Given the description of an element on the screen output the (x, y) to click on. 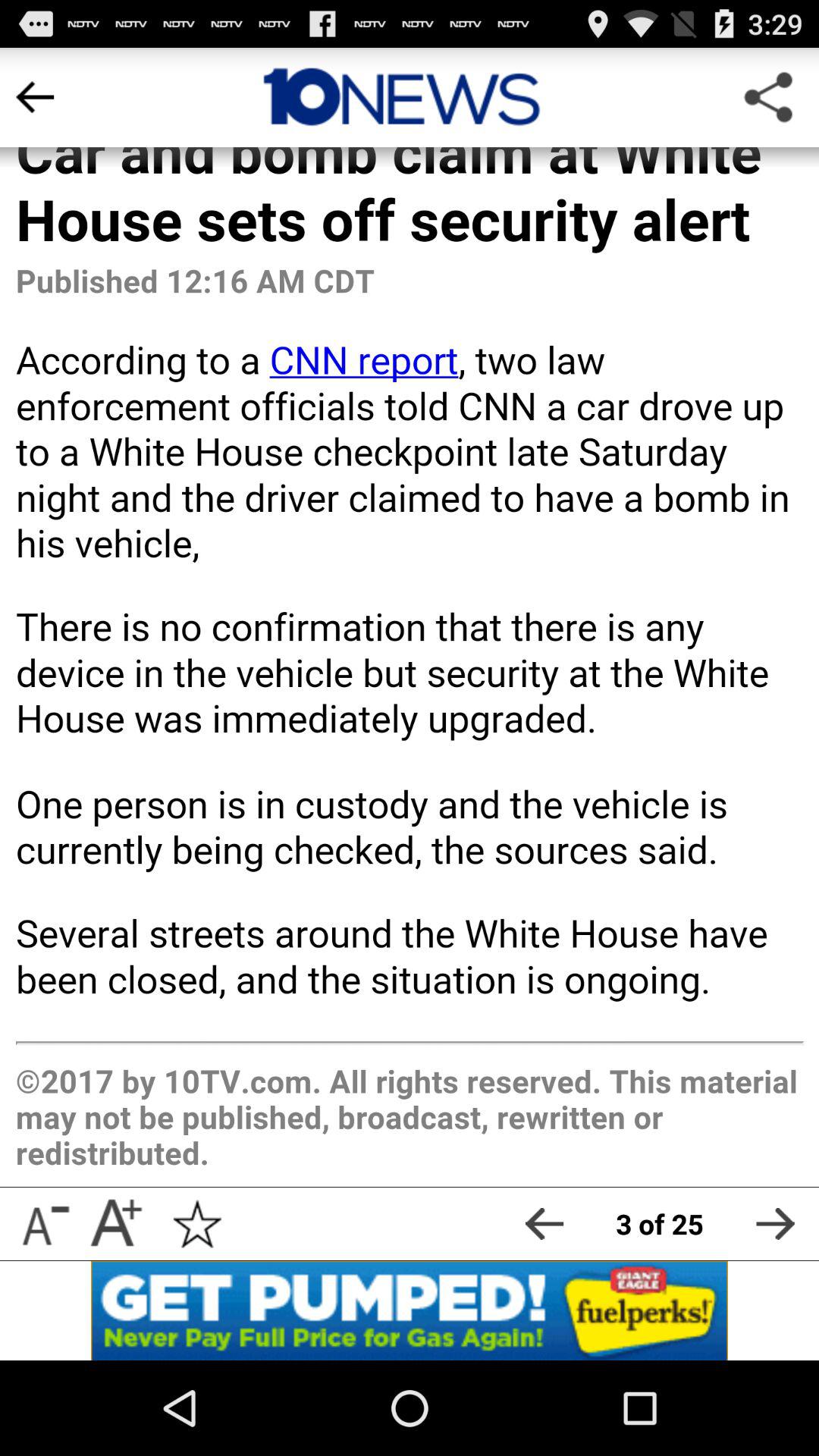
go to the next article (775, 1223)
